Given the description of an element on the screen output the (x, y) to click on. 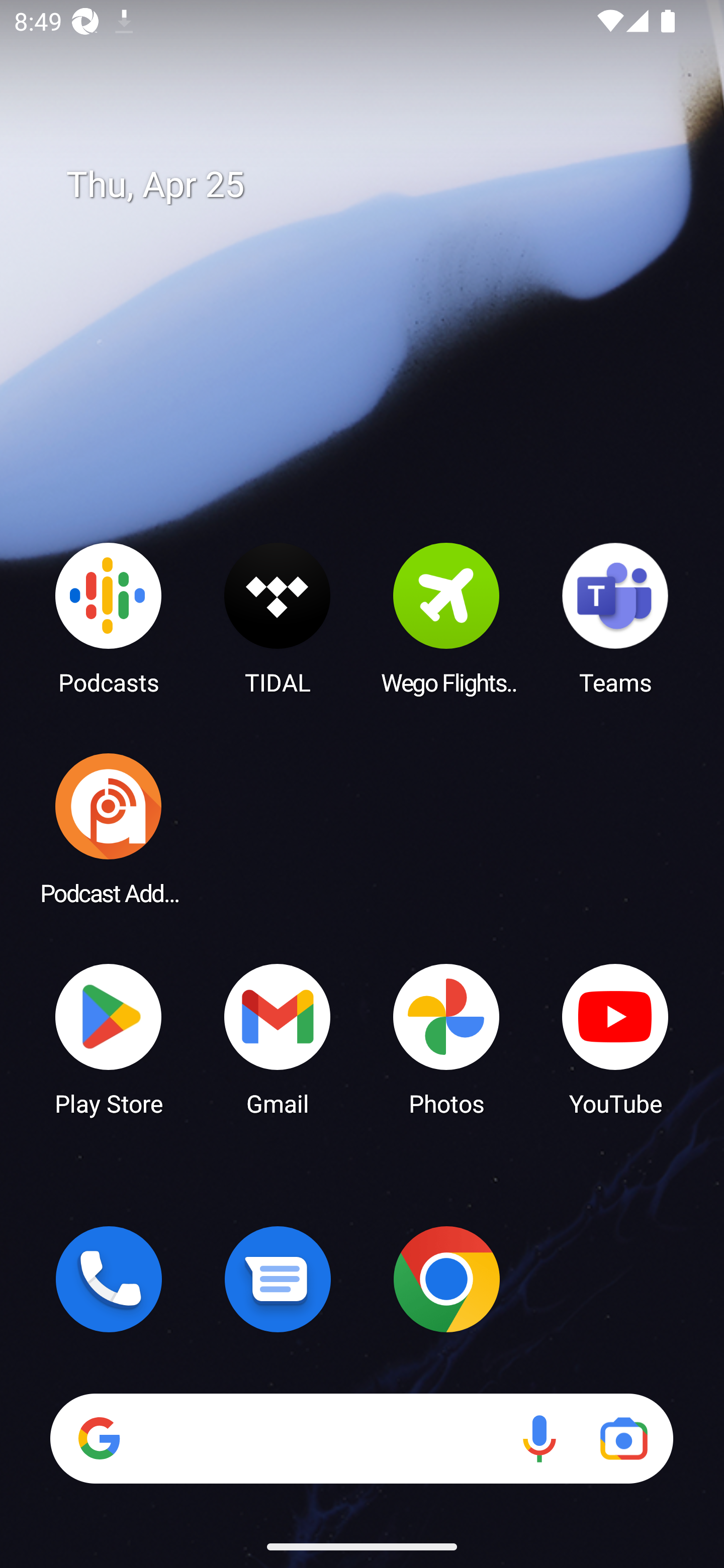
Thu, Apr 25 (375, 184)
Podcasts (108, 617)
TIDAL (277, 617)
Wego Flights & Hotels (445, 617)
Teams (615, 617)
Podcast Addict (108, 828)
Play Store (108, 1038)
Gmail (277, 1038)
Photos (445, 1038)
YouTube (615, 1038)
Phone (108, 1279)
Messages (277, 1279)
Chrome (446, 1279)
Search Voice search Google Lens (361, 1438)
Voice search (539, 1438)
Google Lens (623, 1438)
